Given the description of an element on the screen output the (x, y) to click on. 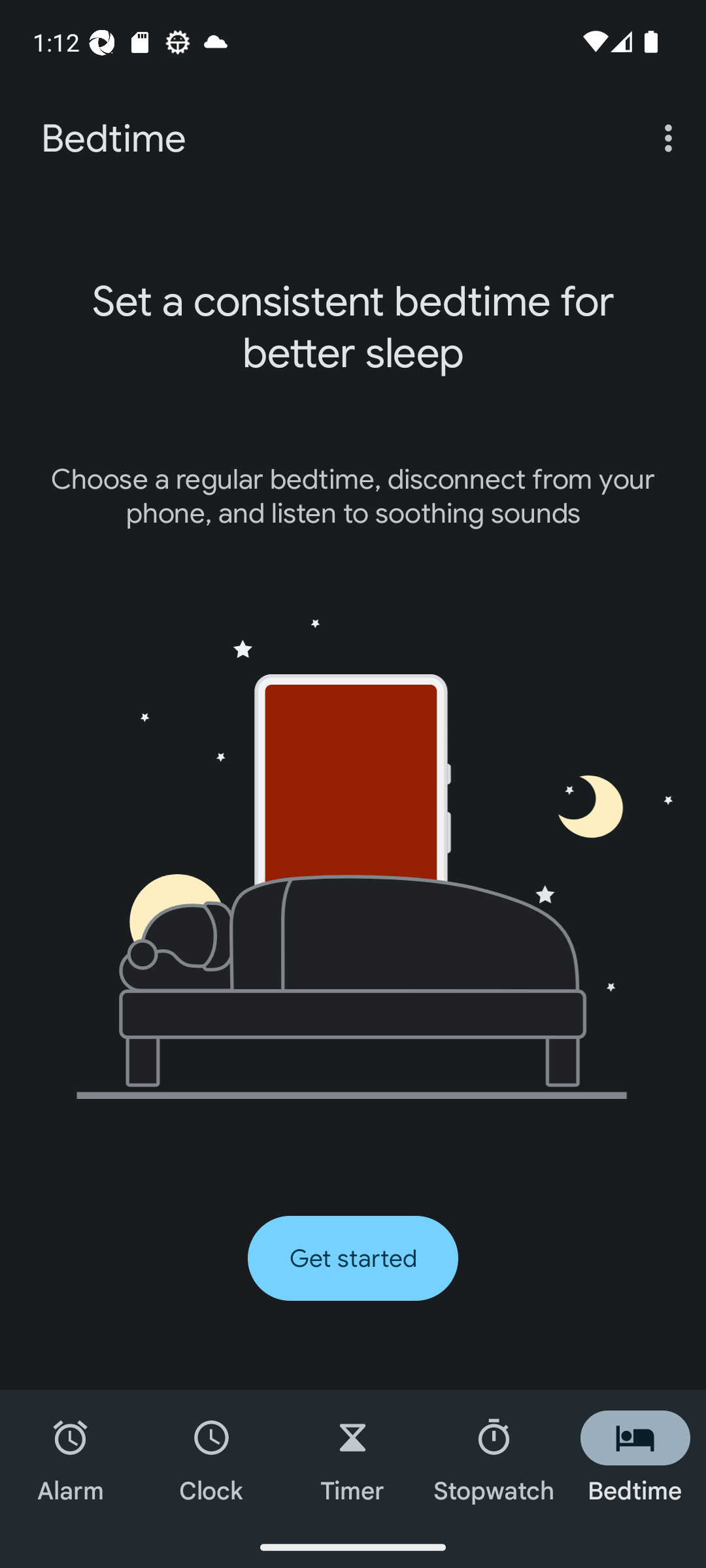
More options (671, 137)
Get started (352, 1257)
Alarm (70, 1458)
Clock (211, 1458)
Timer (352, 1458)
Stopwatch (493, 1458)
